Given the description of an element on the screen output the (x, y) to click on. 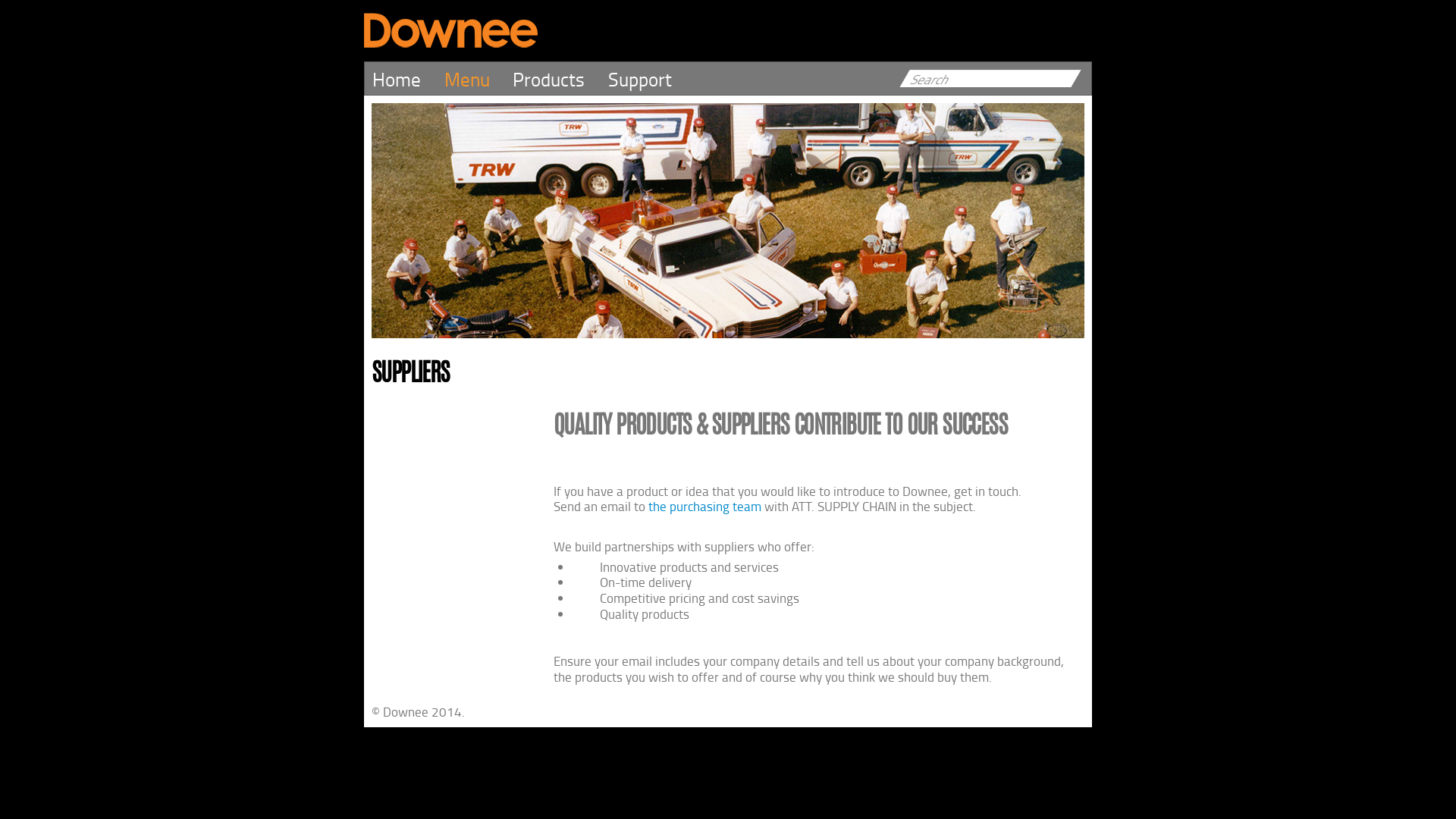
Home Element type: text (408, 78)
Products Element type: text (560, 78)
Menu Element type: text (478, 78)
the purchasing team Element type: text (704, 505)
Support Element type: text (651, 78)
